Given the description of an element on the screen output the (x, y) to click on. 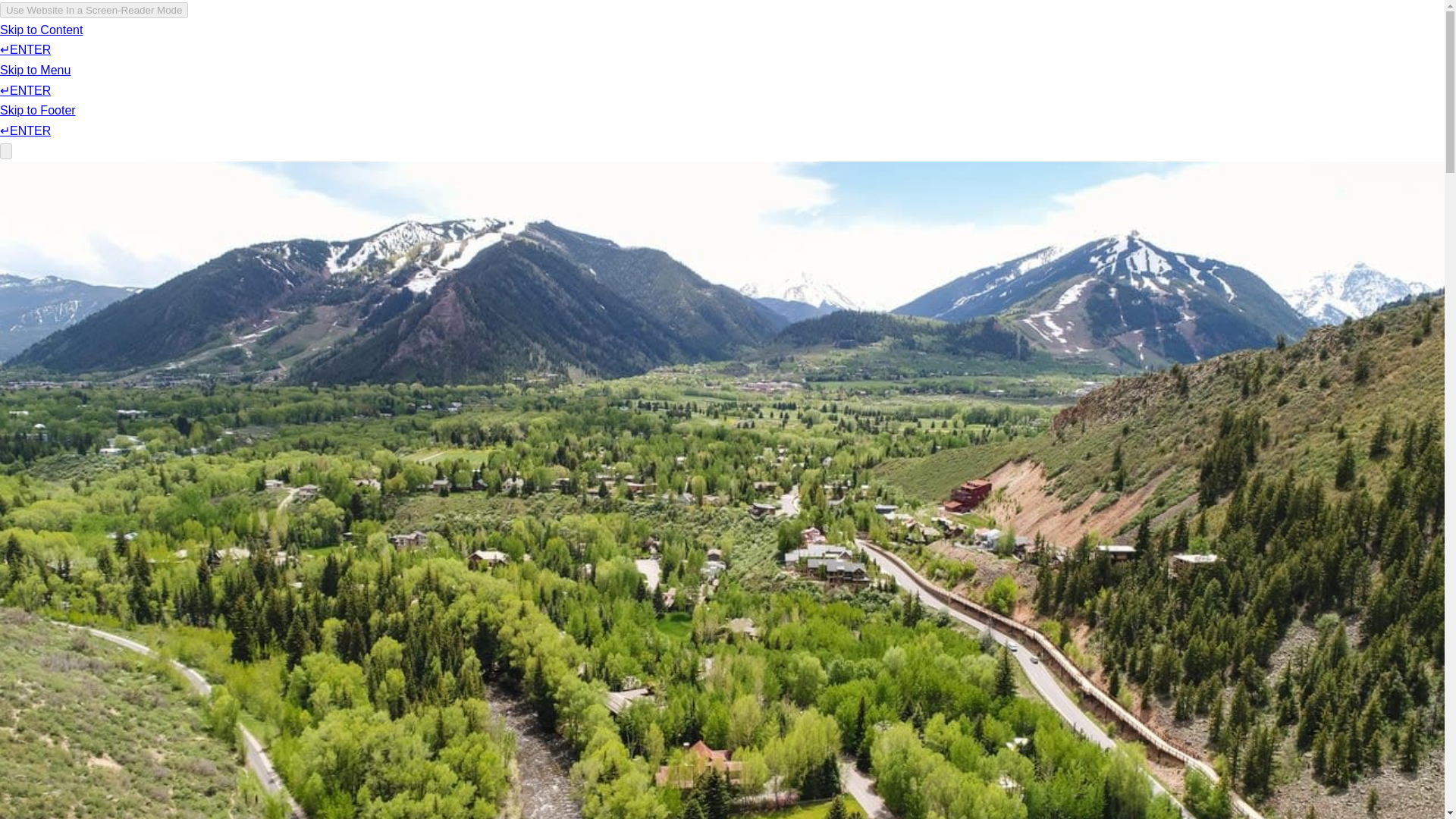
MEET THE TEAM (1045, 55)
SEARCH ALL HOMES (801, 55)
OUR PROPERTIES (670, 55)
